Given the description of an element on the screen output the (x, y) to click on. 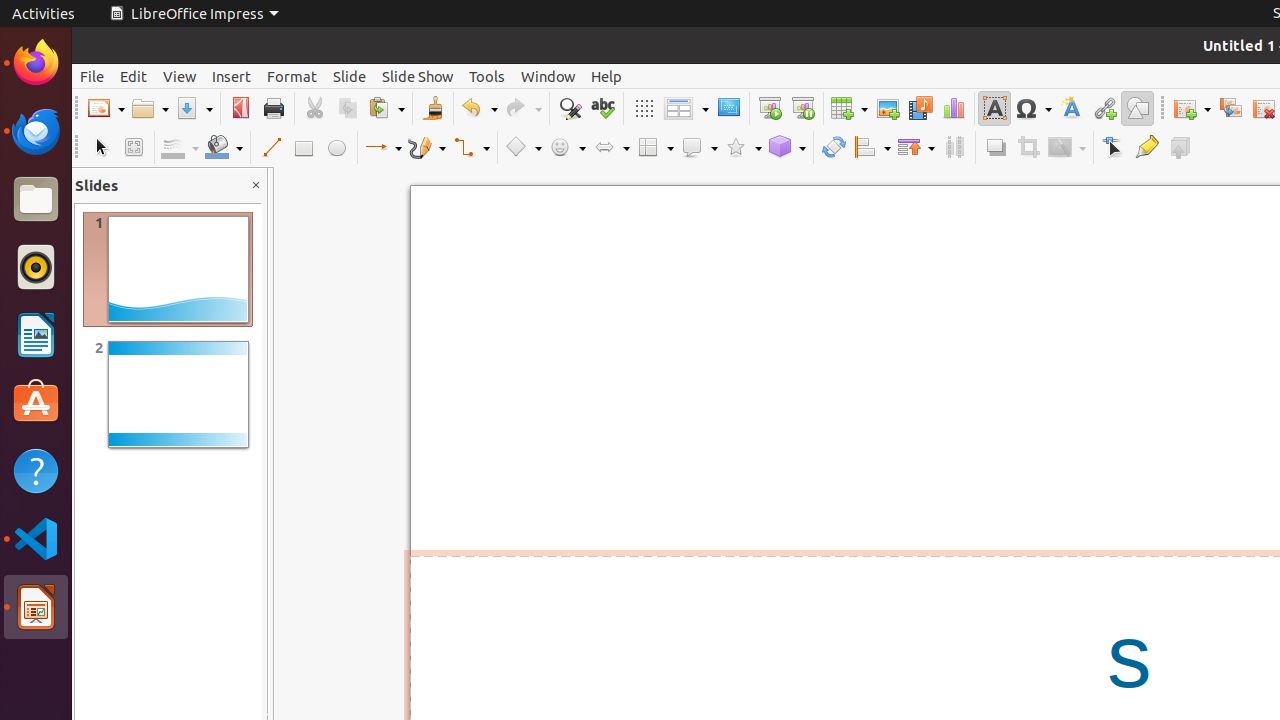
Insert Element type: menu (231, 76)
Window Element type: menu (548, 76)
Arrow Shapes Element type: push-button (611, 147)
Close Pane Element type: push-button (255, 185)
3D Objects Element type: push-button (787, 147)
